Given the description of an element on the screen output the (x, y) to click on. 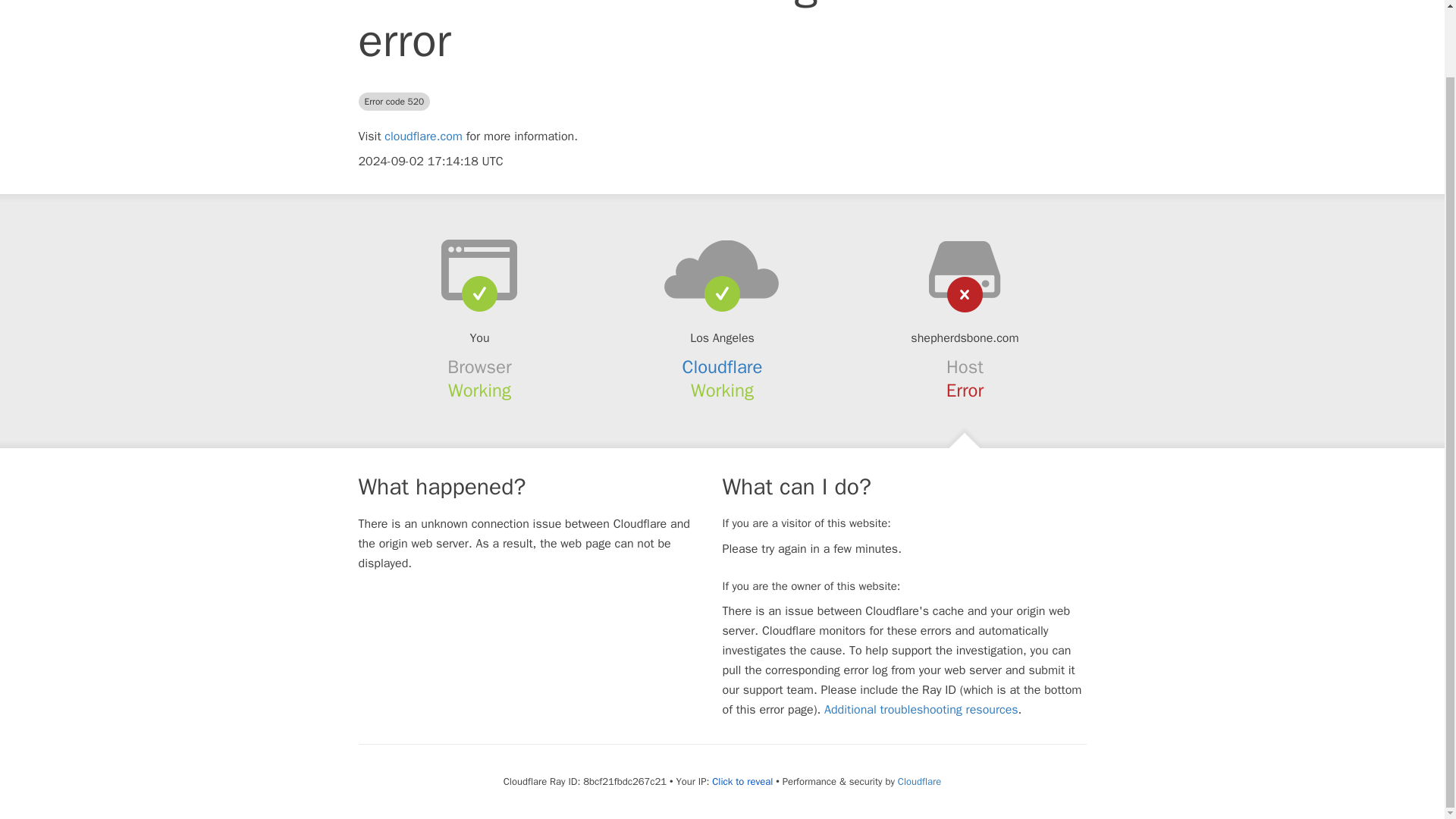
Click to reveal (742, 781)
cloudflare.com (423, 136)
Cloudflare (919, 780)
Cloudflare (722, 366)
Additional troubleshooting resources (920, 709)
